Given the description of an element on the screen output the (x, y) to click on. 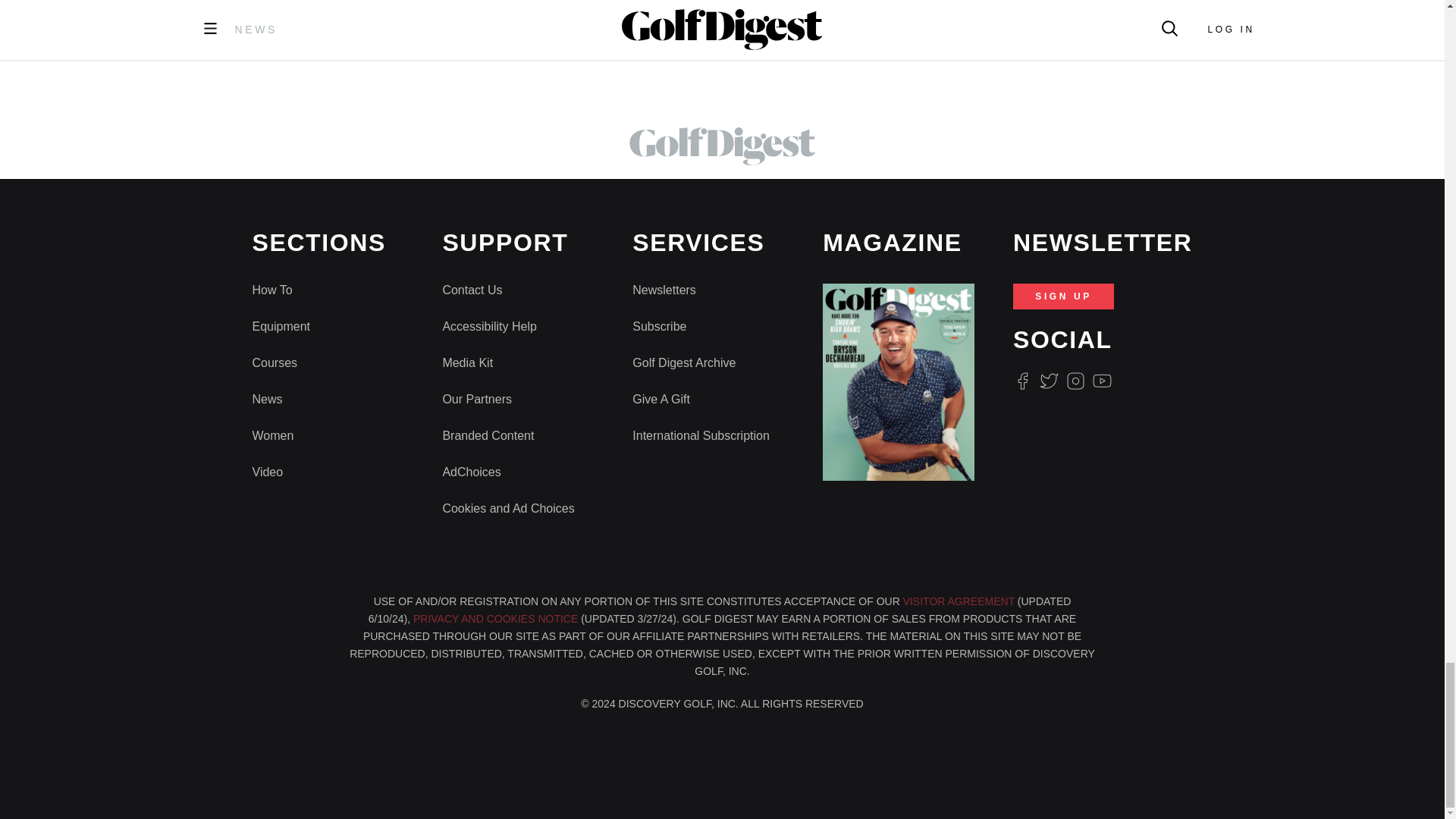
Twitter Logo (1048, 380)
Youtube Icon (1102, 380)
Instagram Logo (1074, 380)
Facebook Logo (1022, 380)
